Given the description of an element on the screen output the (x, y) to click on. 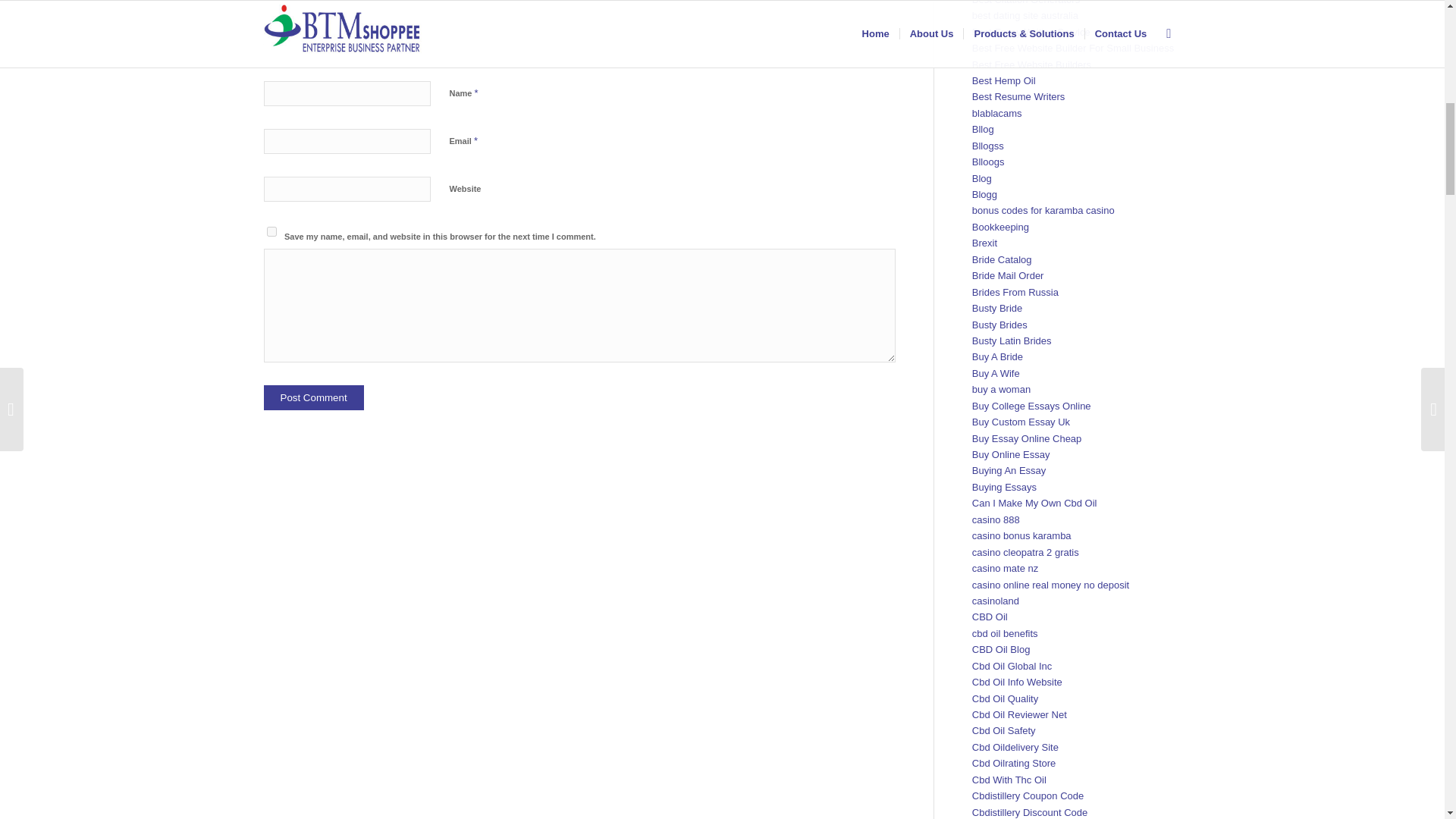
yes (271, 231)
Post Comment (313, 397)
Post Comment (313, 397)
